Given the description of an element on the screen output the (x, y) to click on. 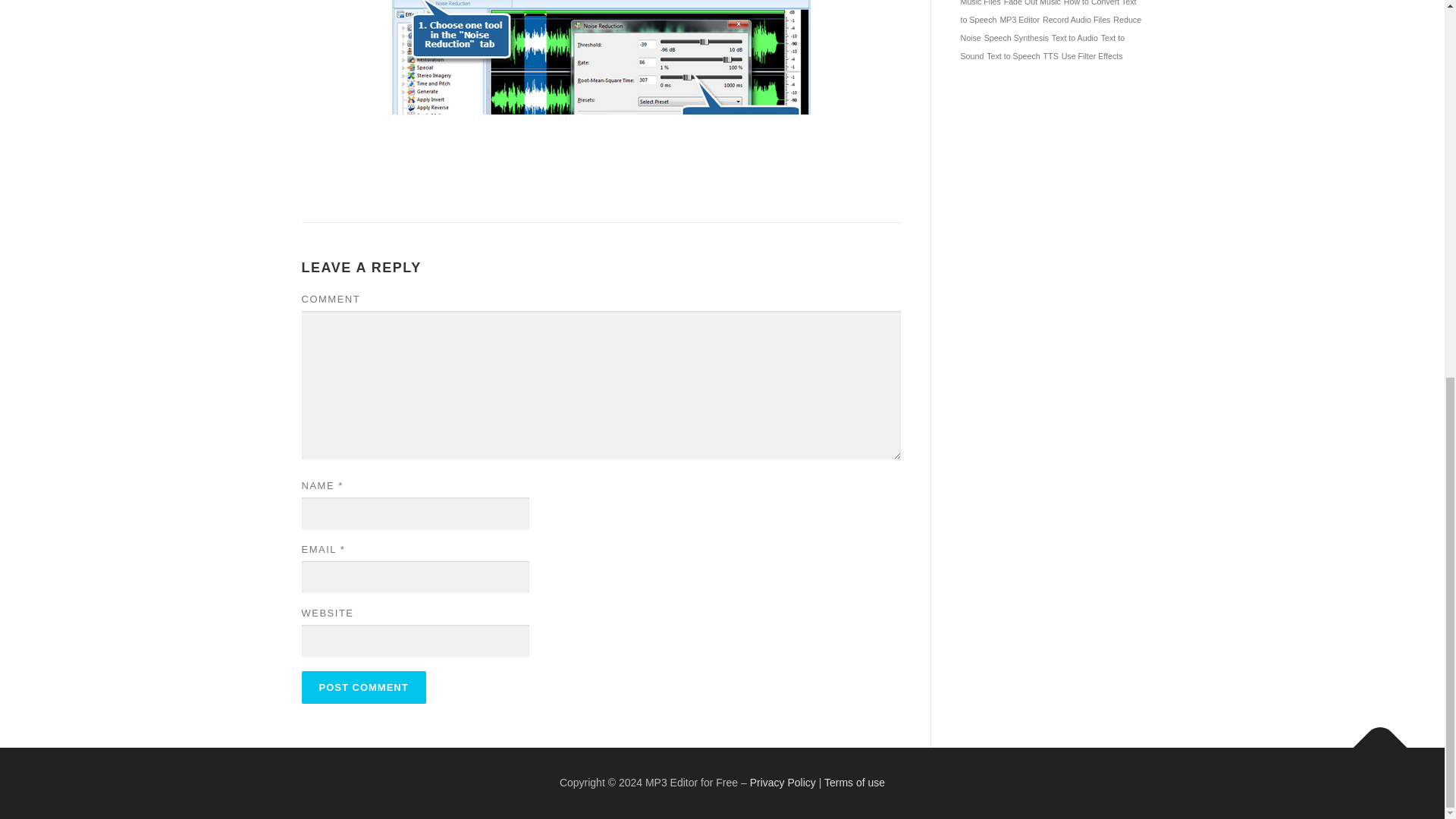
Post Comment (363, 686)
Post Comment (363, 686)
Back To Top (1372, 740)
Reduce noise with noise reduction tools (600, 94)
